Given the description of an element on the screen output the (x, y) to click on. 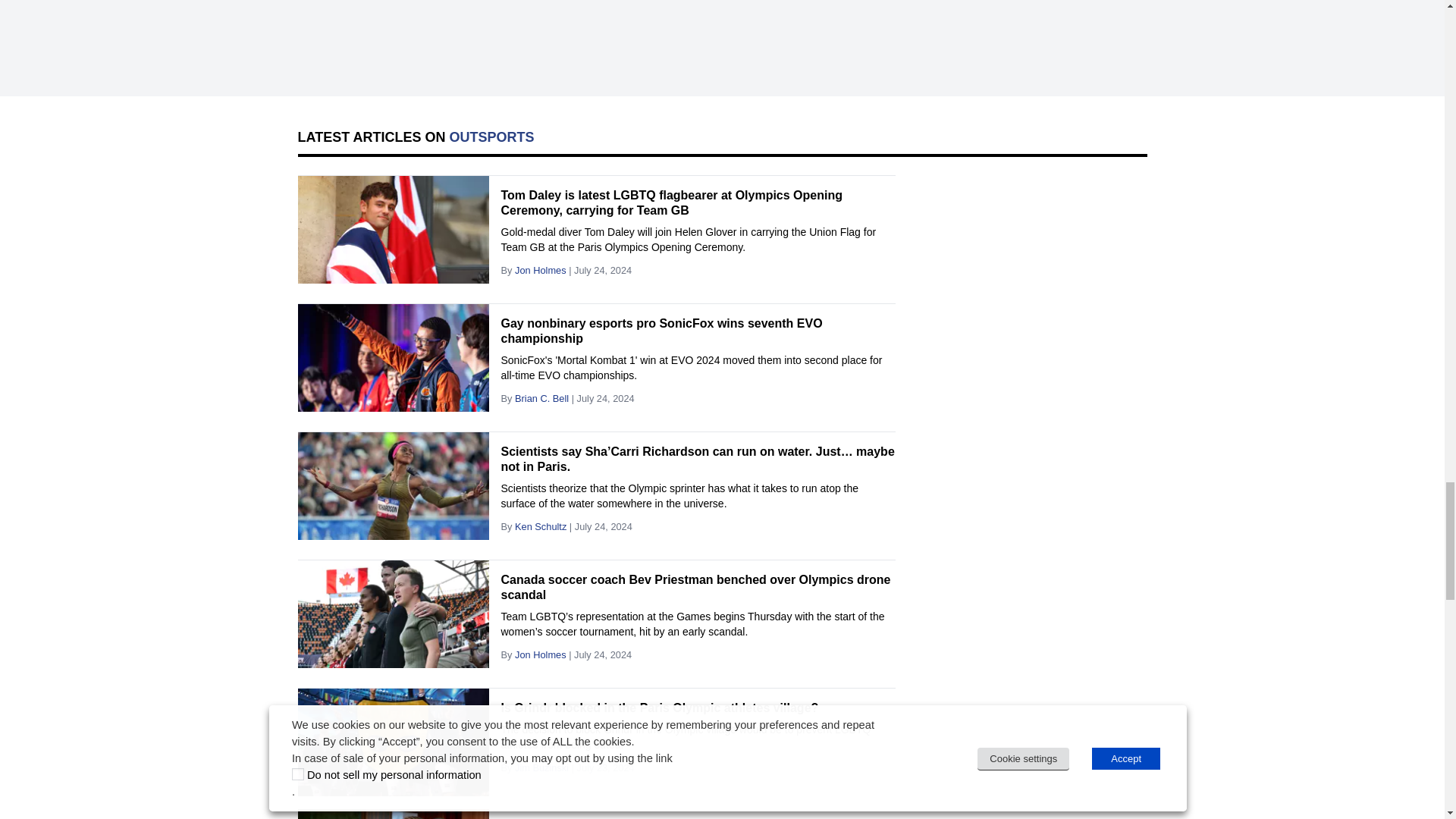
Ken Schultz (540, 526)
Jon Holmes (540, 270)
Jon Holmes (540, 654)
Brian C. Bell (542, 398)
